Given the description of an element on the screen output the (x, y) to click on. 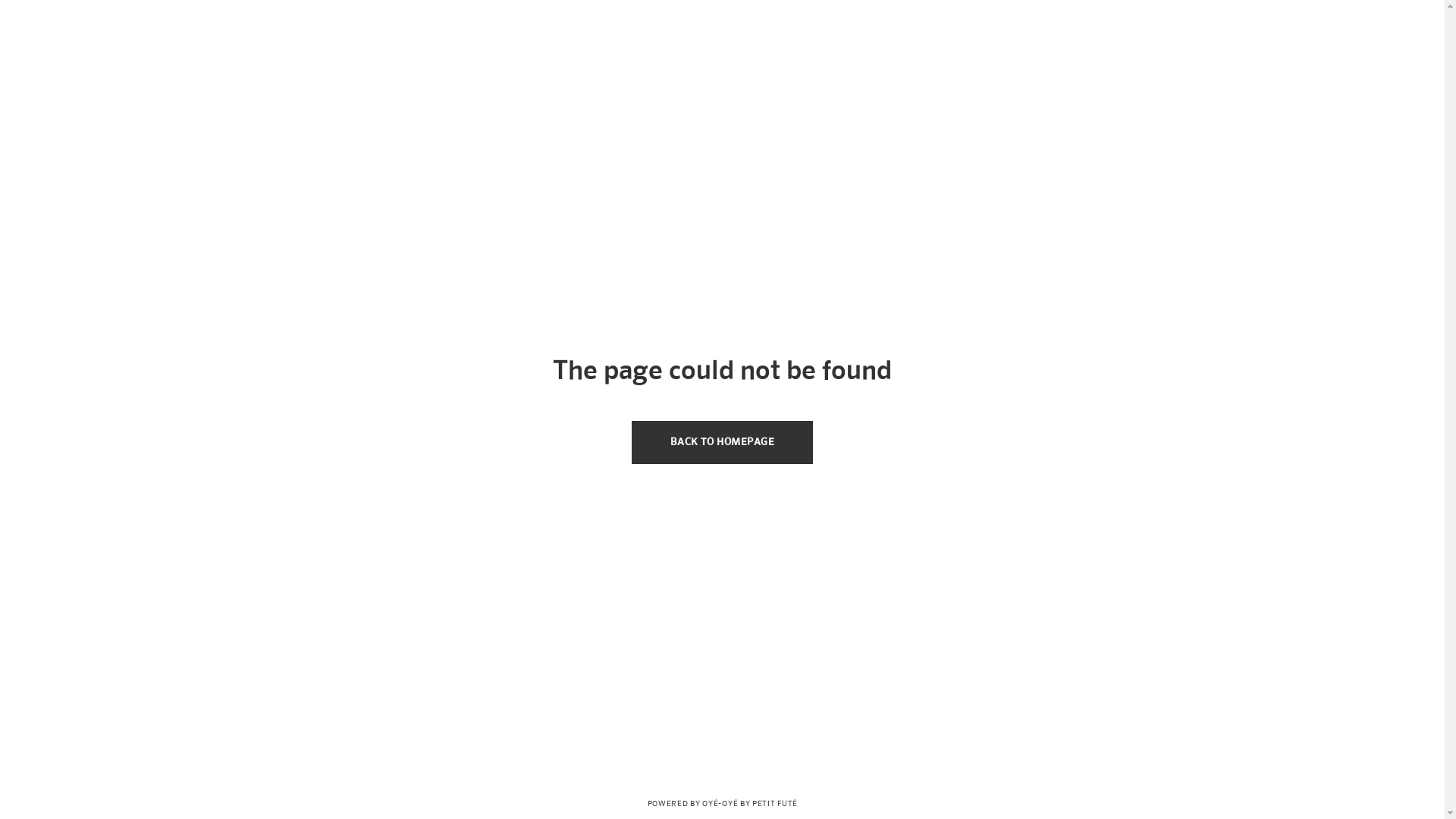
BACK TO HOMEPAGE Element type: text (721, 442)
